Given the description of an element on the screen output the (x, y) to click on. 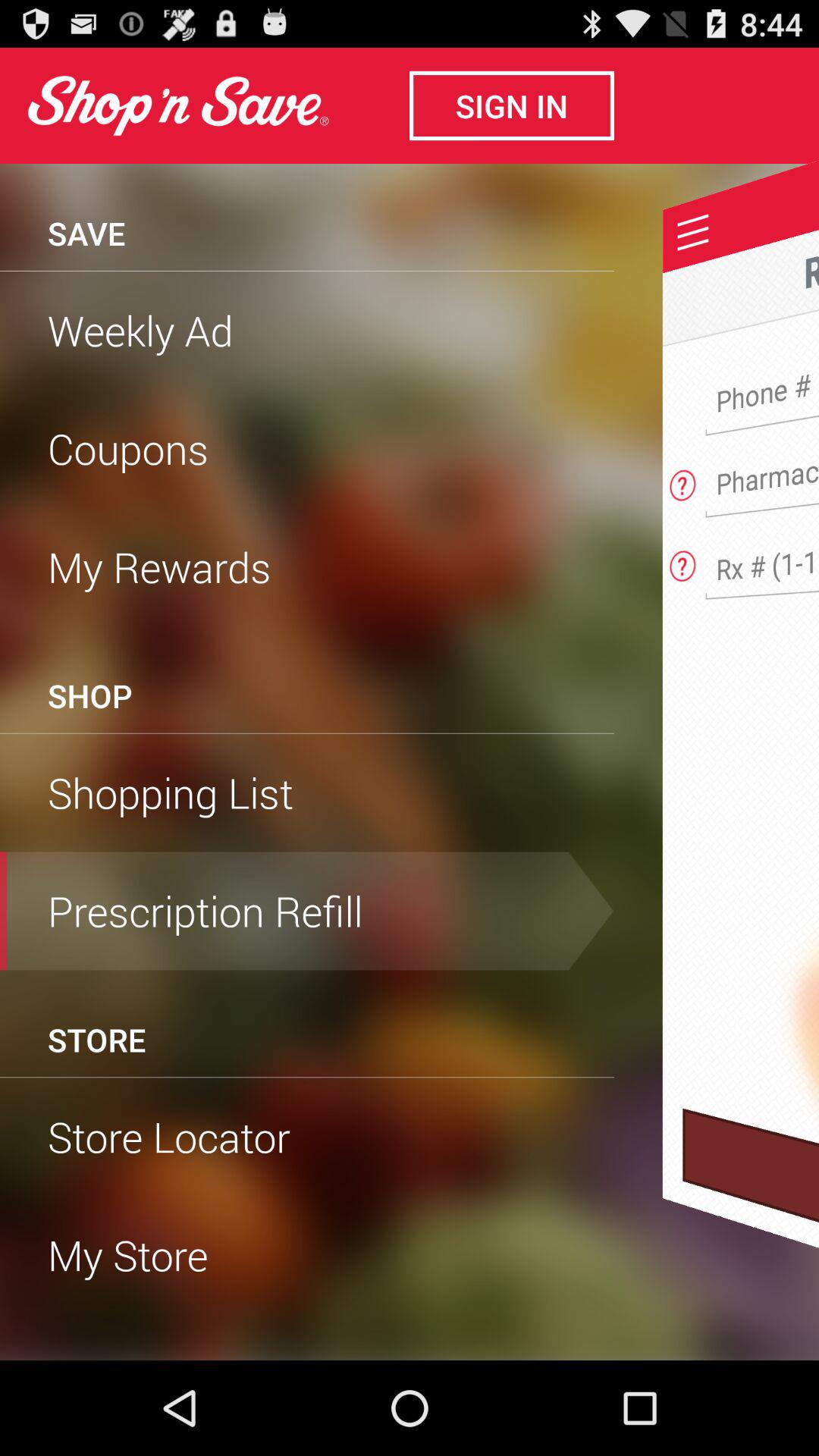
tap my store (307, 1255)
